Given the description of an element on the screen output the (x, y) to click on. 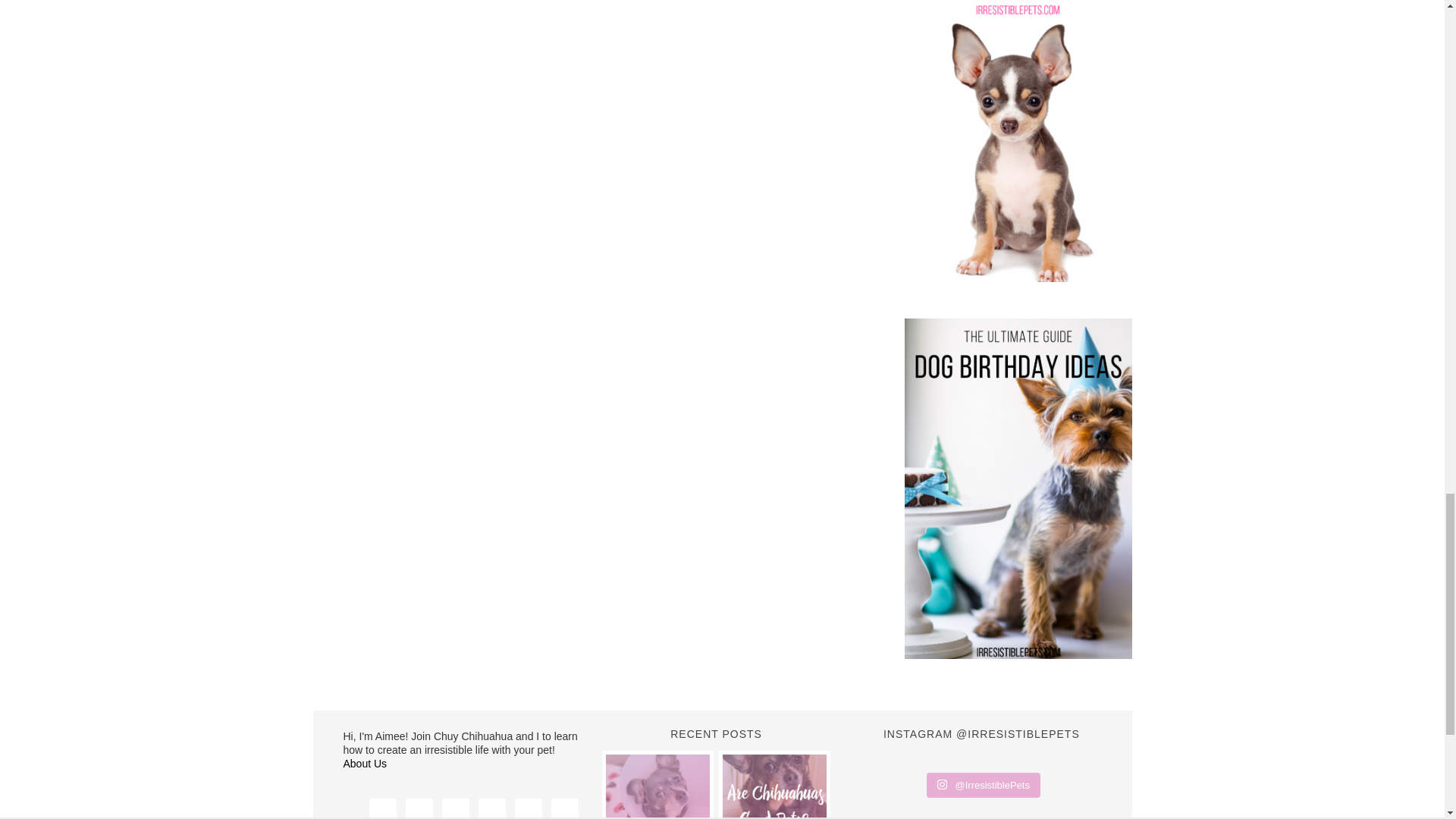
My Chihuahua Had a Splenectomy (657, 786)
Are Chihuahuas Good Pets? (773, 786)
About Us (364, 763)
